Given the description of an element on the screen output the (x, y) to click on. 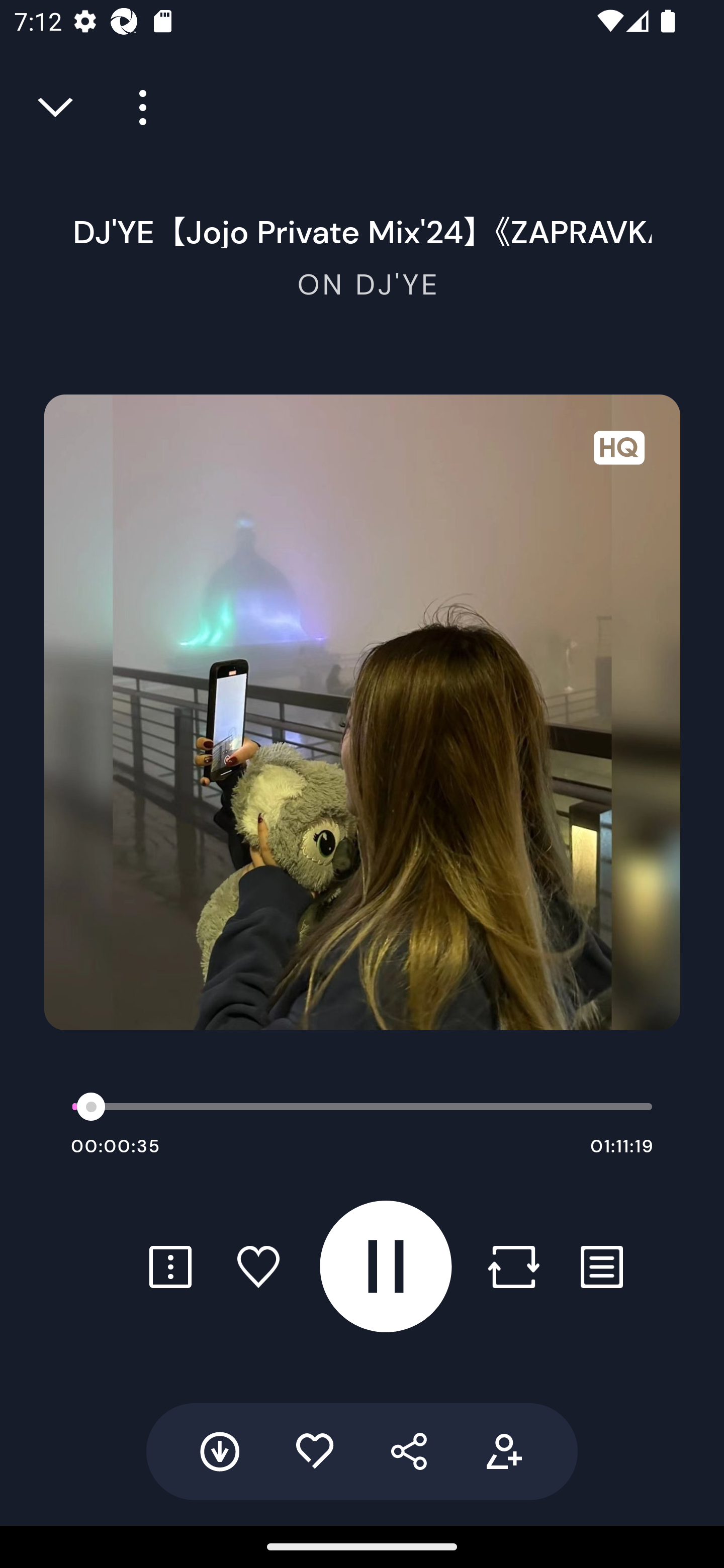
Close full player (57, 107)
Player more options button (136, 107)
Repost button (513, 1266)
